Given the description of an element on the screen output the (x, y) to click on. 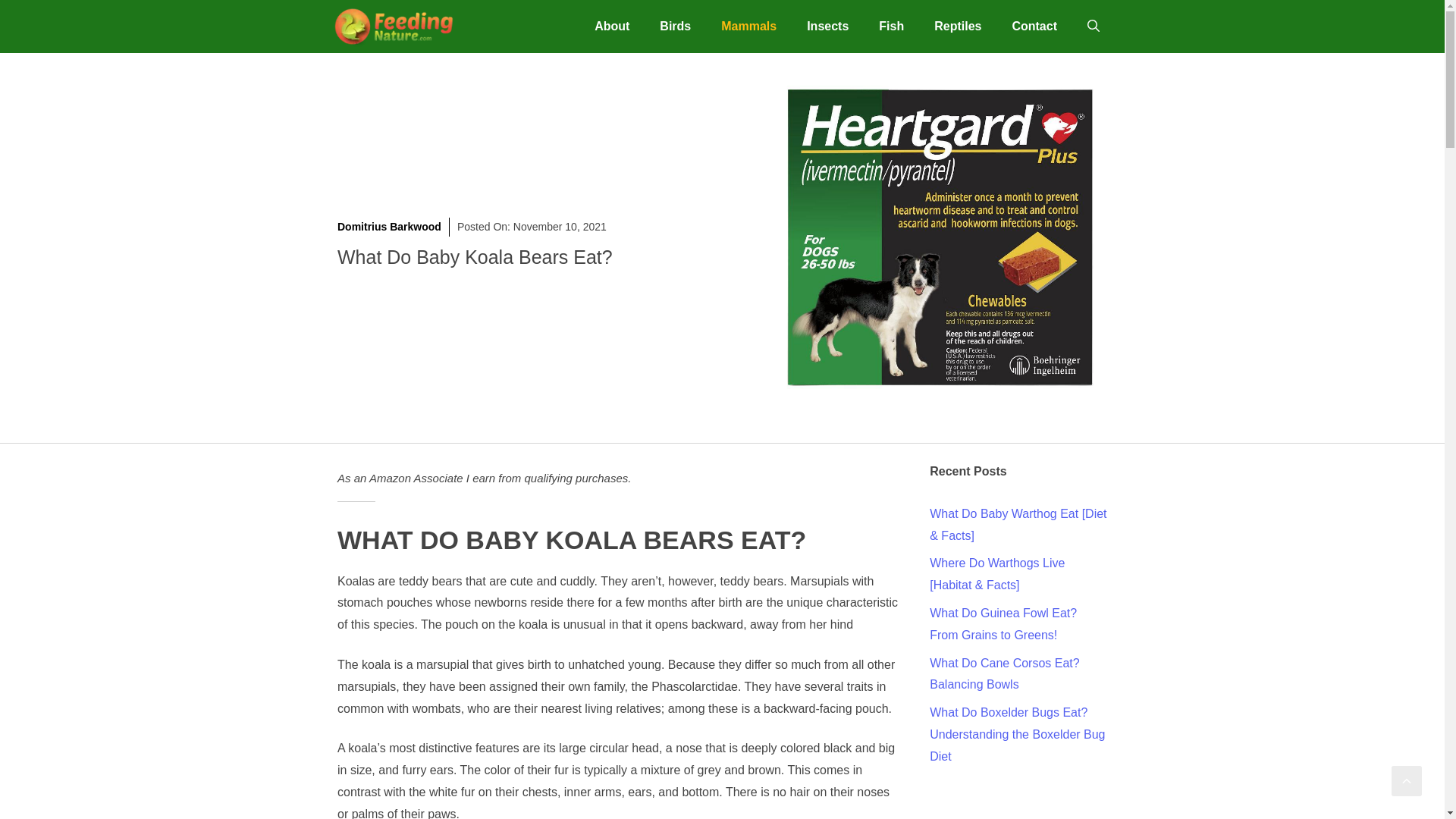
What Do Cane Corsos Eat? Balancing Bowls (1004, 673)
About (612, 26)
Fish (890, 26)
What Do Guinea Fowl Eat? From Grains to Greens! (1003, 623)
Mammals (749, 26)
Scroll back to top (1406, 780)
Contact (1033, 26)
Insects (827, 26)
Birds (675, 26)
Reptiles (956, 26)
